Given the description of an element on the screen output the (x, y) to click on. 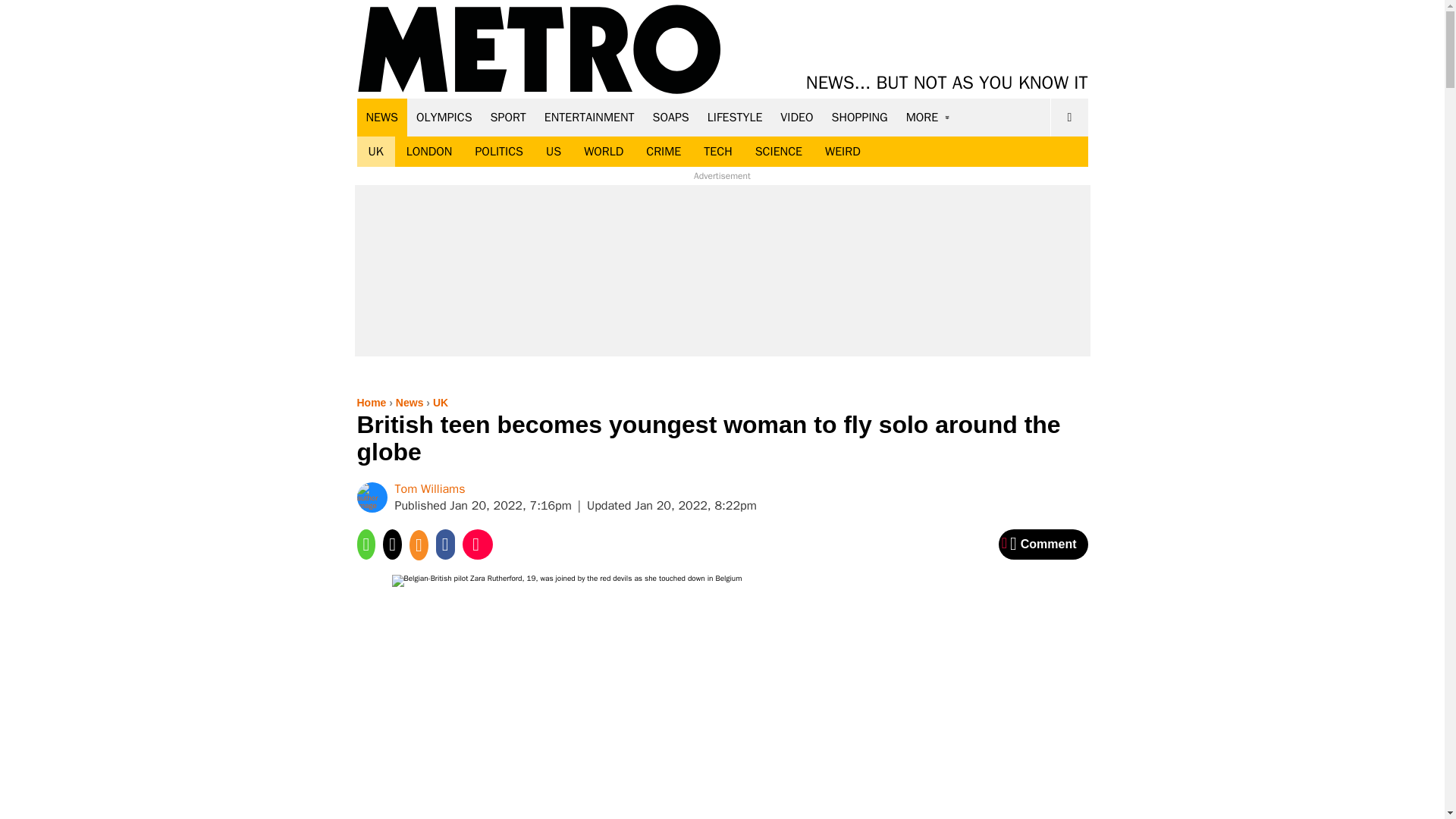
POLITICS (498, 151)
SPORT (508, 117)
ENTERTAINMENT (589, 117)
WORLD (603, 151)
WEIRD (842, 151)
NEWS (381, 117)
US (553, 151)
UK (375, 151)
TECH (717, 151)
LONDON (429, 151)
LIFESTYLE (734, 117)
OLYMPICS (444, 117)
Metro (539, 50)
SCIENCE (778, 151)
CRIME (663, 151)
